Given the description of an element on the screen output the (x, y) to click on. 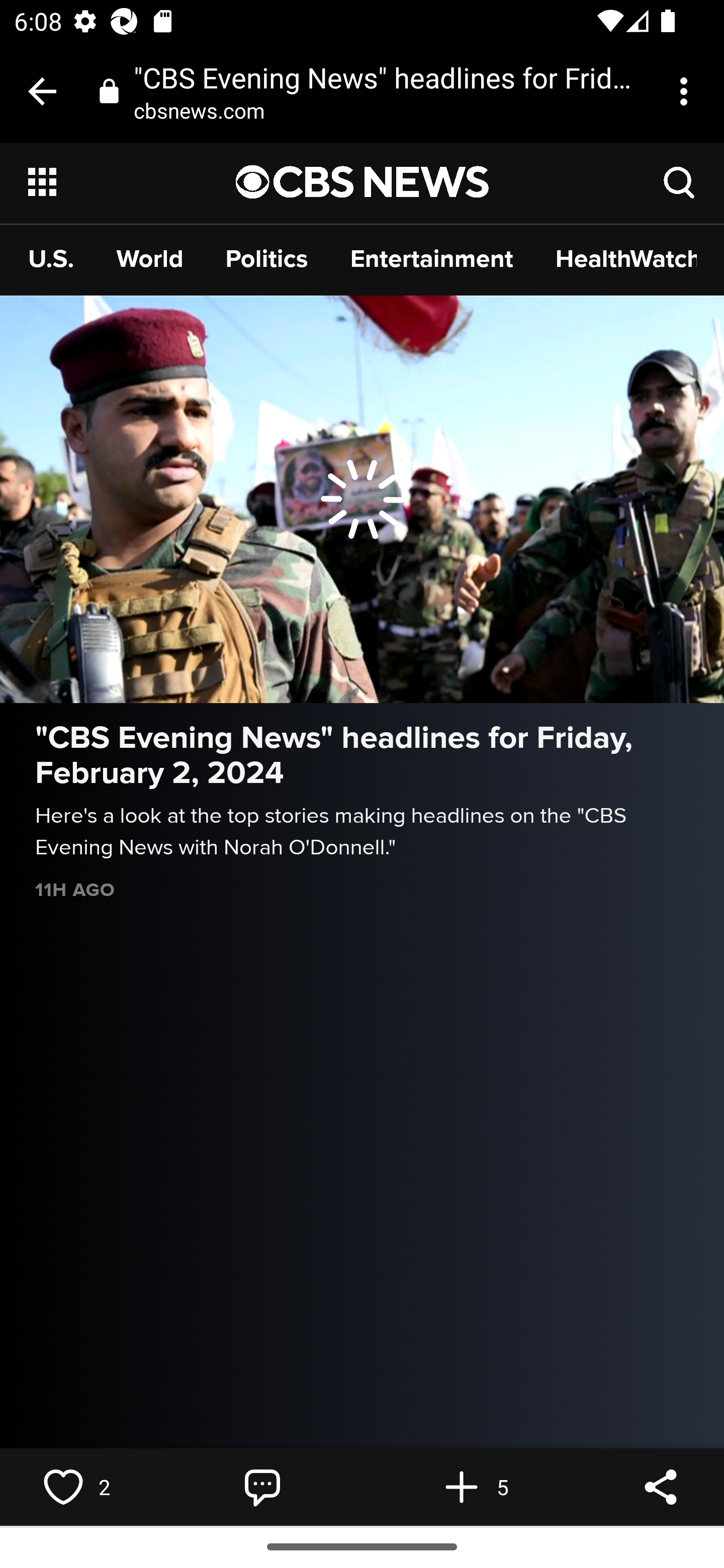
Close tab (42, 91)
More options (687, 91)
Connection is secure (108, 90)
cbsnews.com (205, 109)
search (679, 180)
Go to CBS News National home page (362, 181)
Open the site navigation (132, 181)
U.S. (51, 258)
World (149, 258)
Politics (267, 258)
Entertainment (431, 258)
HealthWatch (625, 258)
Media Player (362, 499)
Like (63, 1486)
Write a comment… (262, 1486)
Flip into Magazine (461, 1486)
Share (660, 1486)
